Given the description of an element on the screen output the (x, y) to click on. 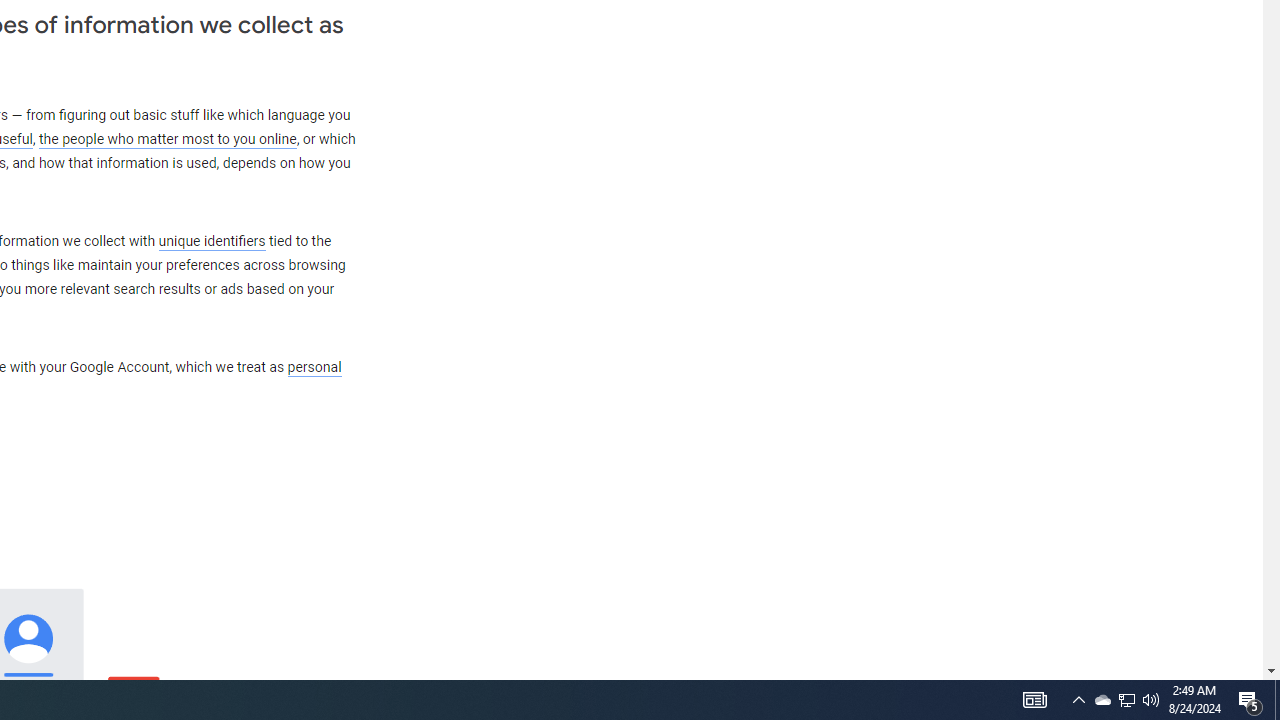
AutomationID: 4105 (1034, 699)
the people who matter most to you online (167, 139)
unique identifiers (211, 241)
Q2790: 100% (1151, 699)
Action Center, 5 new notifications (1250, 699)
Show desktop (1277, 699)
Notification Chevron (1078, 699)
User Promoted Notification Area (1126, 699)
